Given the description of an element on the screen output the (x, y) to click on. 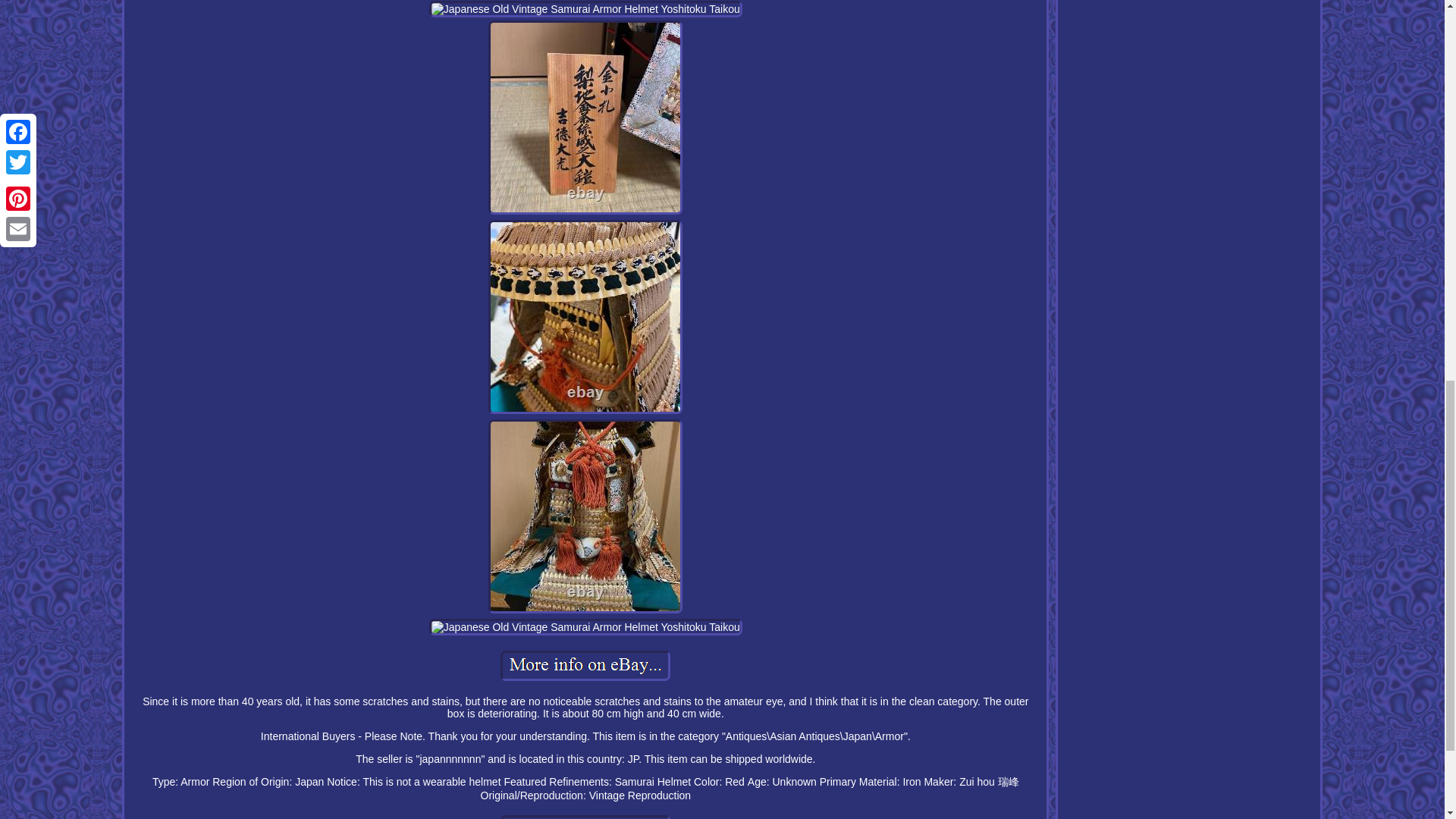
Japanese Old Vintage Samurai Armor Helmet Yoshitoku Taikou (585, 8)
Japanese Old Vintage Samurai Armor Helmet Yoshitoku Taikou (584, 117)
Japanese Old Vintage Samurai Armor Helmet Yoshitoku Taikou (584, 665)
Japanese Old Vintage Samurai Armor Helmet Yoshitoku Taikou (584, 516)
Japanese Old Vintage Samurai Armor Helmet Yoshitoku Taikou (584, 816)
Japanese Old Vintage Samurai Armor Helmet Yoshitoku Taikou (585, 627)
Japanese Old Vintage Samurai Armor Helmet Yoshitoku Taikou (584, 317)
